Given the description of an element on the screen output the (x, y) to click on. 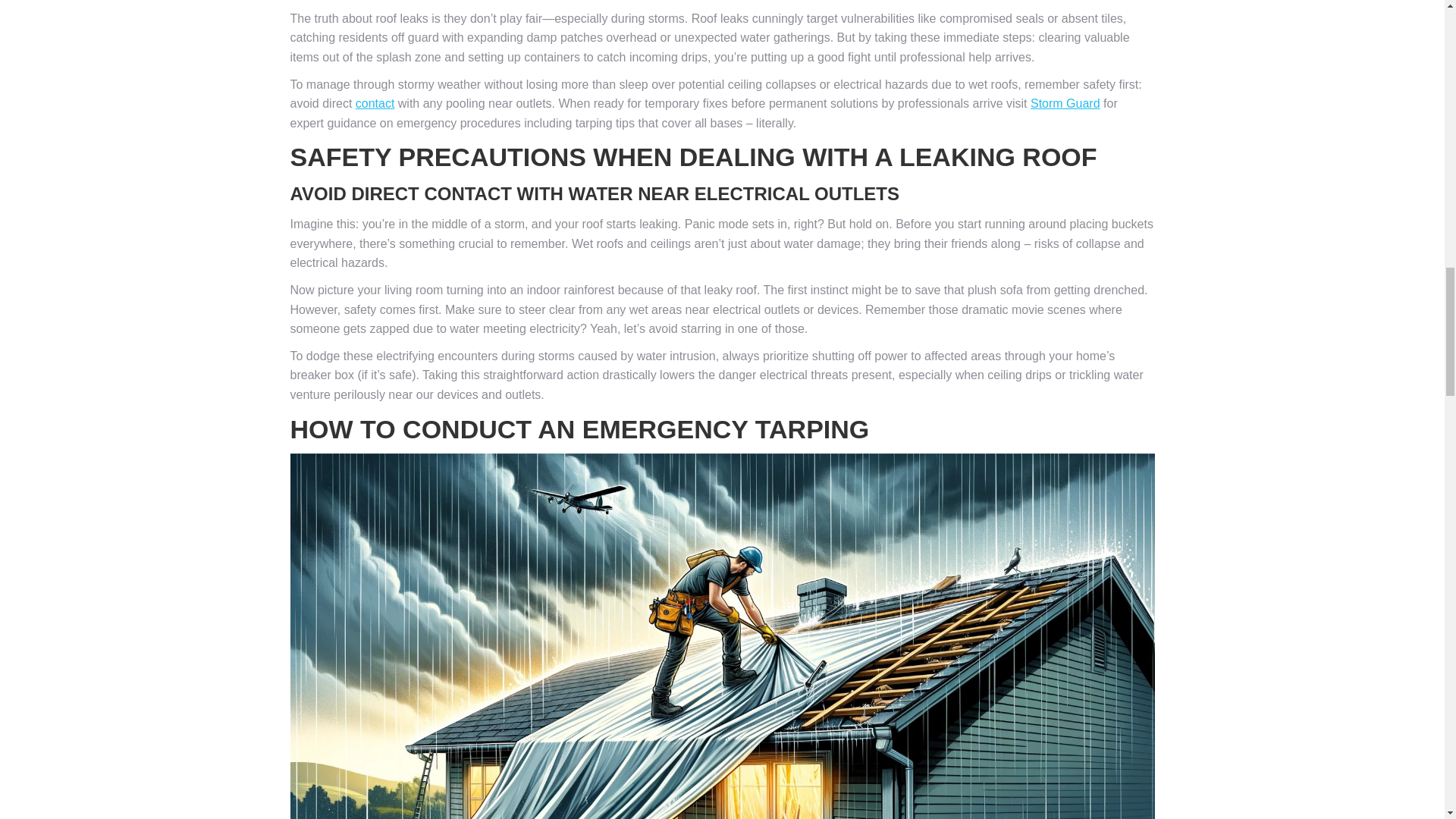
Contact (374, 103)
